Given the description of an element on the screen output the (x, y) to click on. 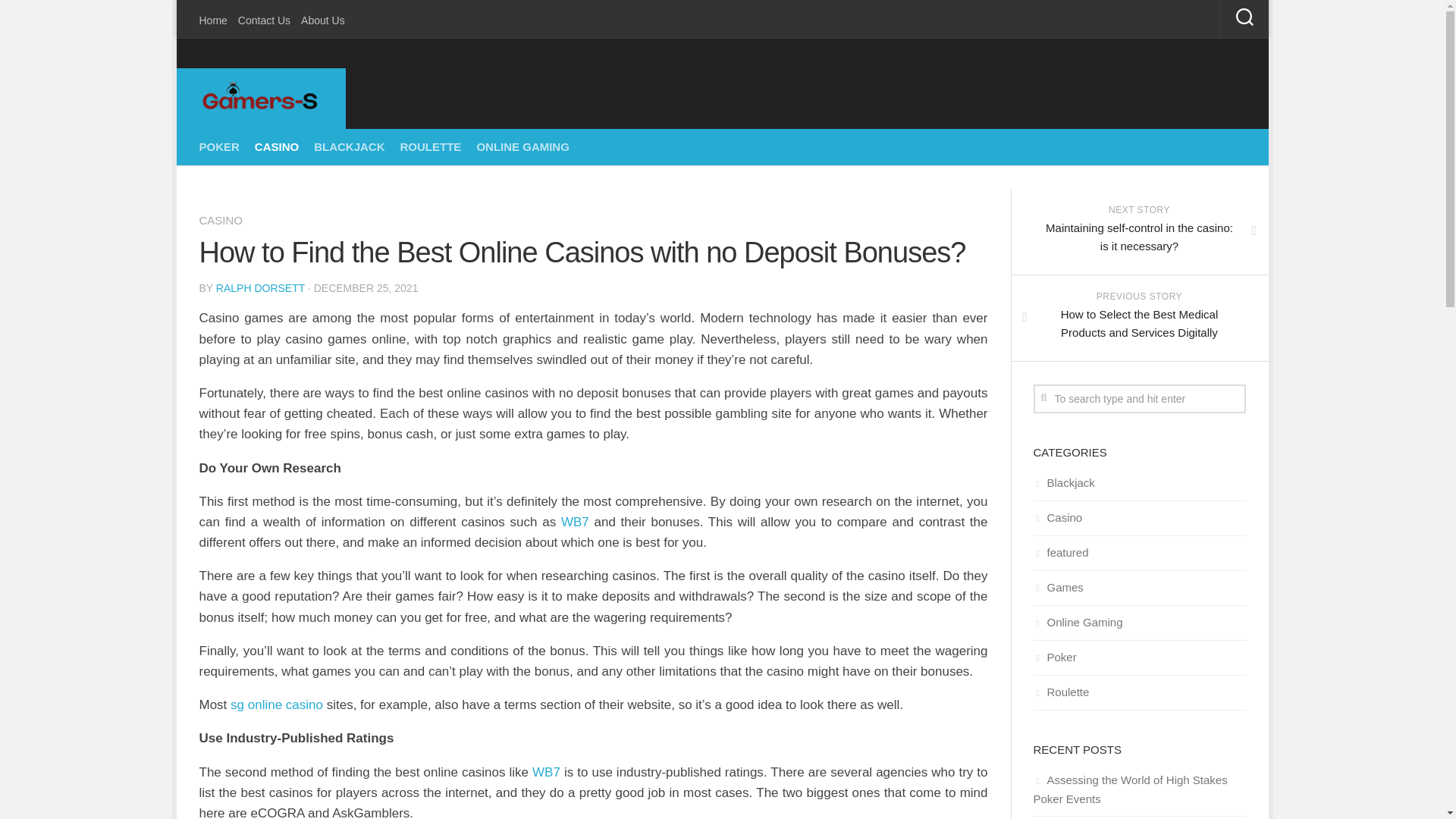
RALPH DORSETT (259, 287)
WB7 (546, 771)
BLACKJACK (349, 146)
Games (1057, 586)
POKER (218, 146)
To search type and hit enter (1138, 398)
Roulette (1060, 691)
featured (1059, 552)
Home (212, 20)
Online Gaming (1077, 621)
Casino (1056, 517)
CASINO (276, 146)
WB7 (574, 522)
To search type and hit enter (1138, 398)
